Given the description of an element on the screen output the (x, y) to click on. 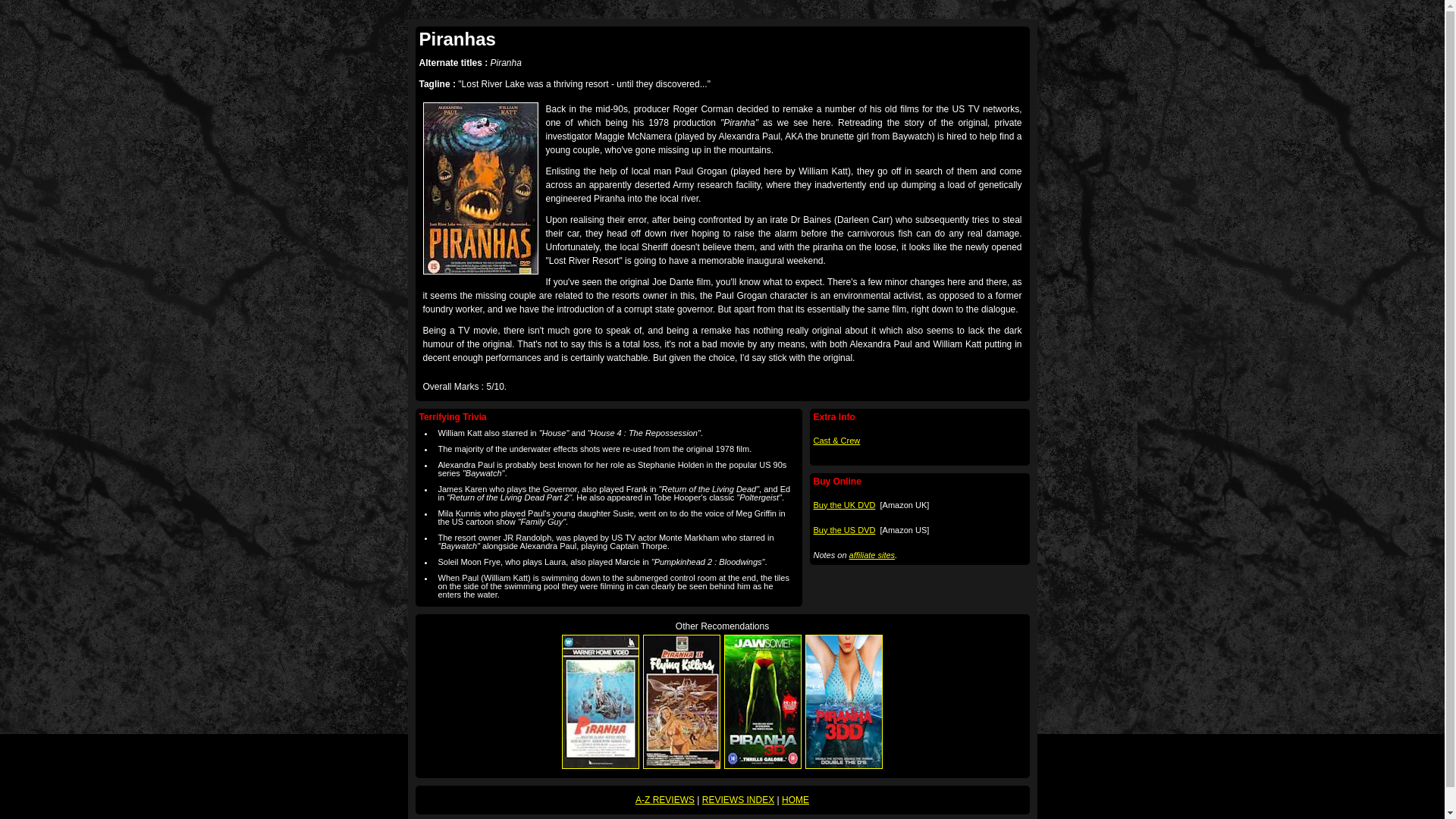
affiliate sites (871, 554)
Buy the US DVD (843, 528)
Buy the UK DVD (843, 504)
